Given the description of an element on the screen output the (x, y) to click on. 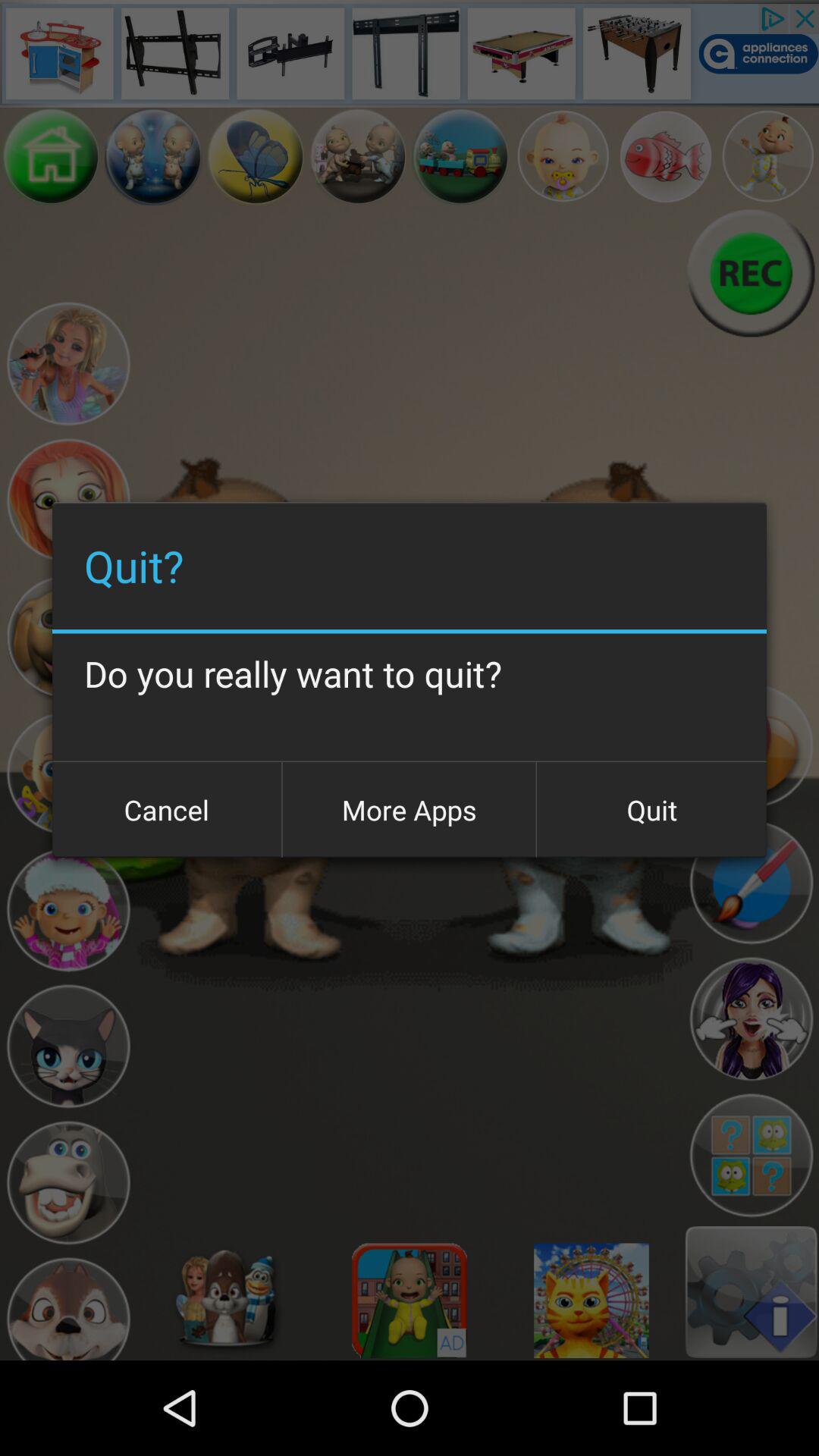
choose a character (665, 156)
